Given the description of an element on the screen output the (x, y) to click on. 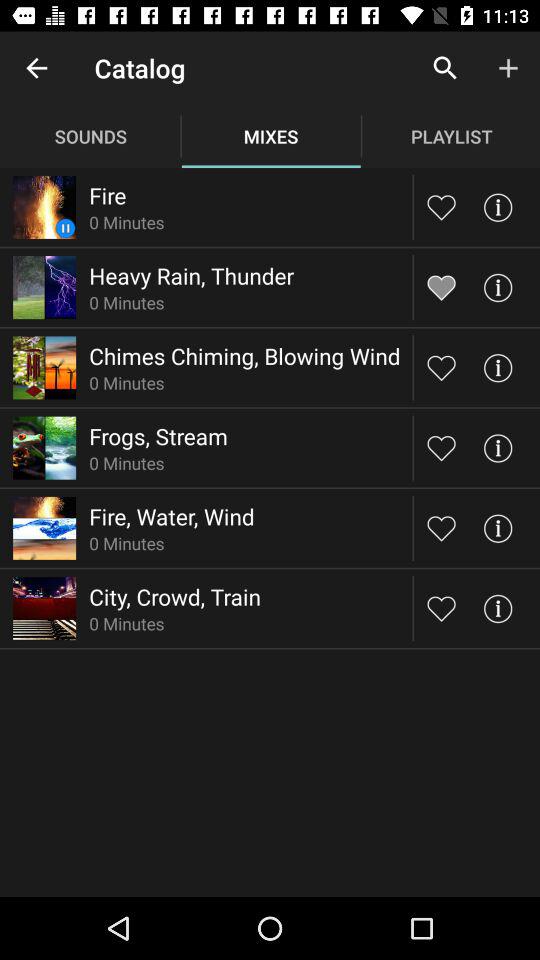
more information (498, 287)
